Given the description of an element on the screen output the (x, y) to click on. 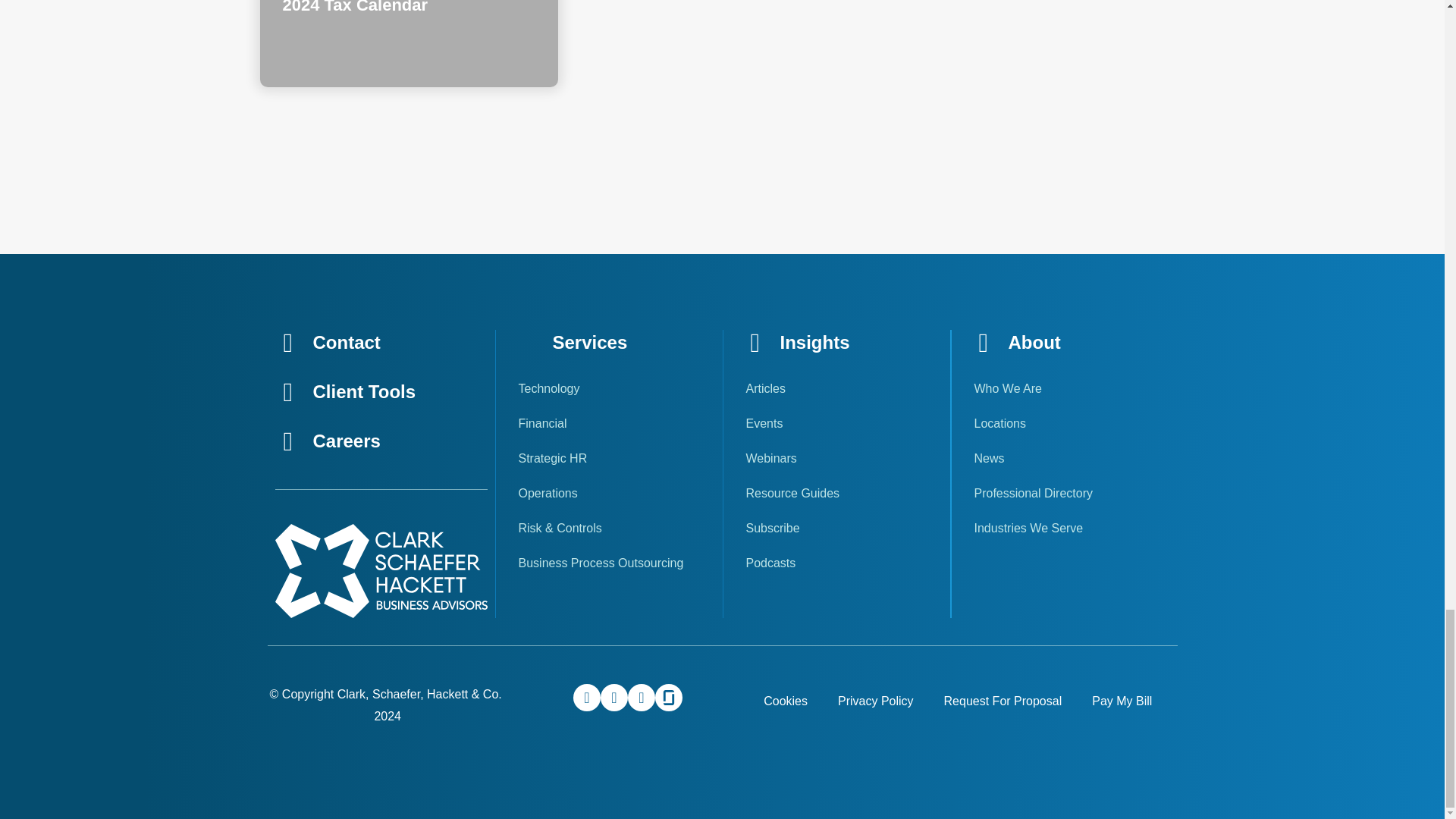
Articles (836, 388)
Events (836, 423)
Business Process Outsourcing (608, 563)
Client Tools (363, 391)
Technology (608, 388)
Contact (346, 342)
Careers (346, 440)
Podcasts (836, 563)
Resource Guides (836, 493)
Financial (608, 423)
Operations (608, 493)
Subscribe (836, 528)
Webinars (836, 458)
Strategic HR (608, 458)
